Given the description of an element on the screen output the (x, y) to click on. 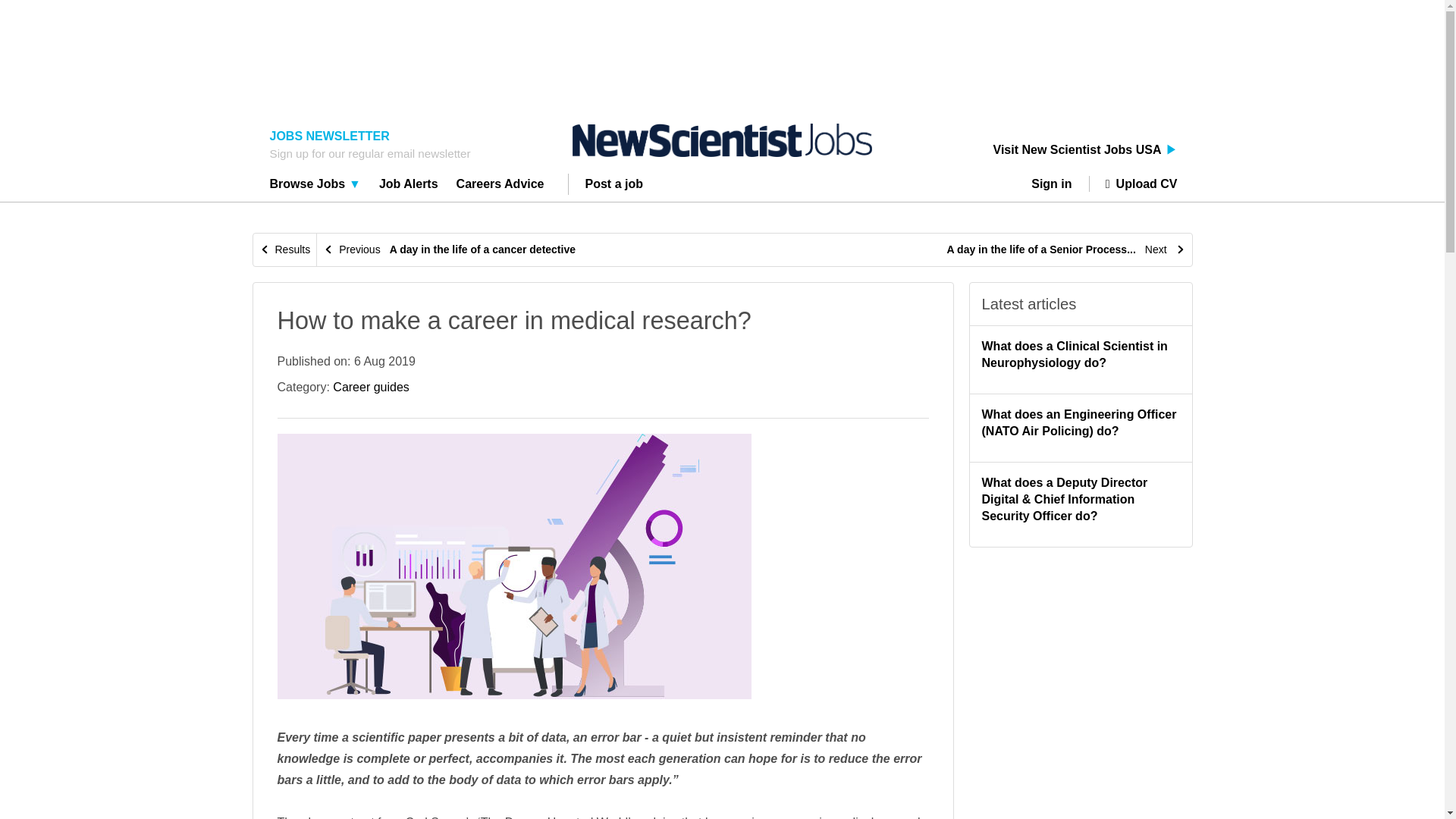
Upload CV (1133, 183)
Job Alerts (409, 186)
Careers Advice (500, 186)
Career guides (371, 386)
A day in the life of a Senior Process...Next (1066, 249)
PreviousA day in the life of a cancer detective (448, 249)
Results (285, 249)
Visit New Scientist Jobs USA (1084, 149)
Post a job (614, 186)
What does a Clinical Scientist in Neurophysiology do? (1074, 354)
Sign in (1057, 183)
New Scientist Jobs (722, 140)
